Given the description of an element on the screen output the (x, y) to click on. 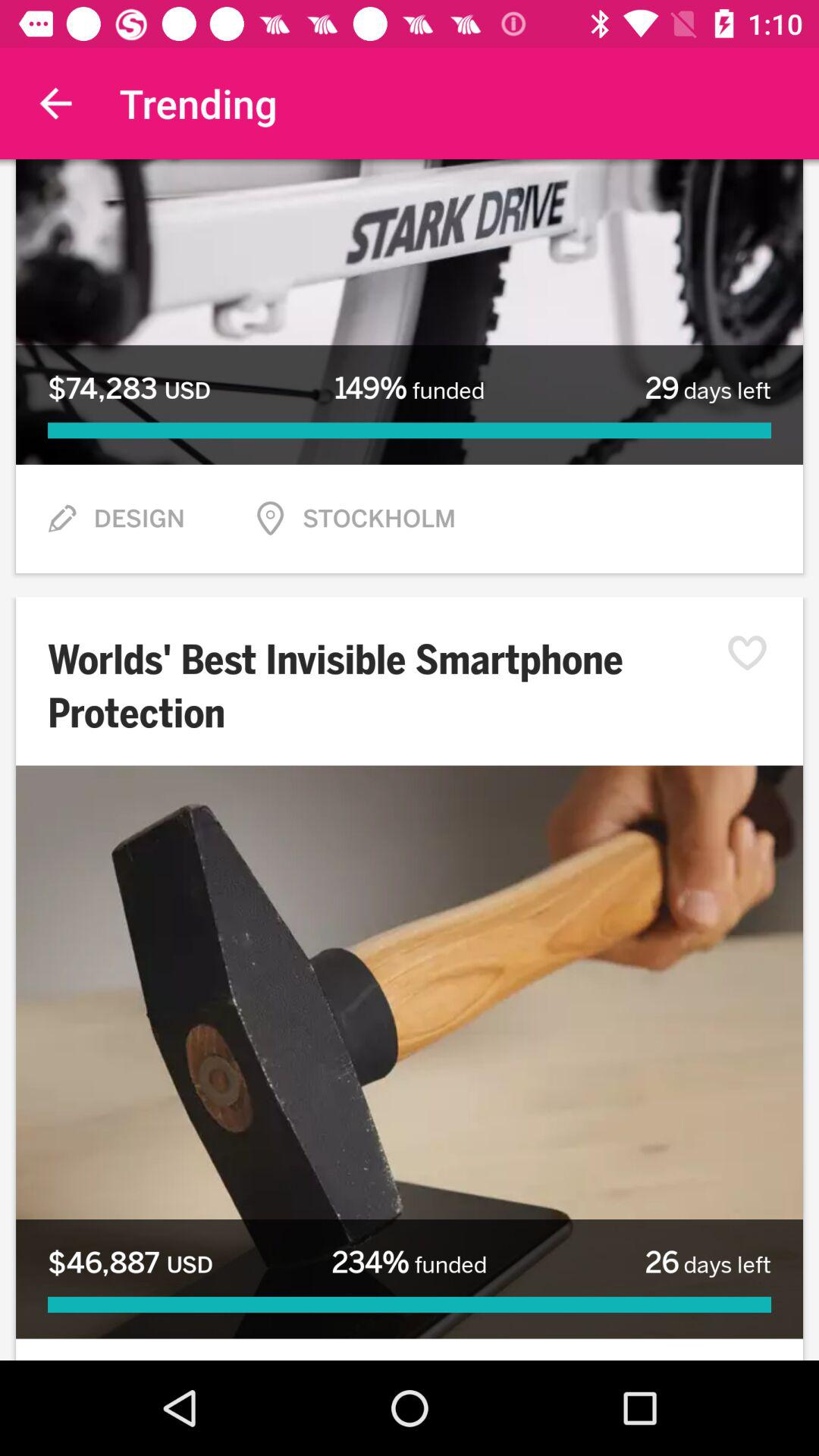
press item to the left of 149% funded item (128, 388)
